Given the description of an element on the screen output the (x, y) to click on. 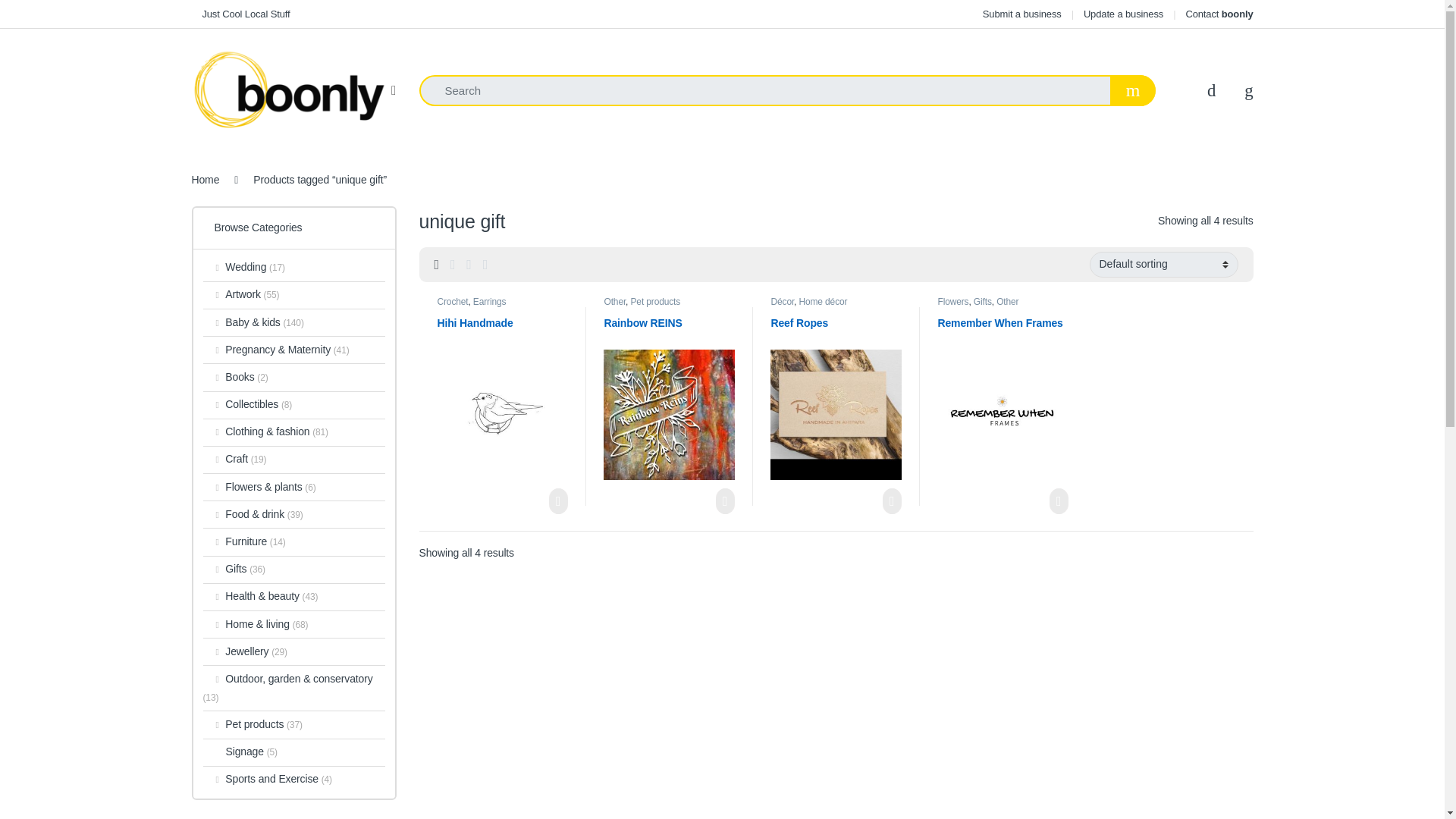
Submit a business (1021, 13)
Update a business (1123, 13)
Update a business (1123, 13)
    Just Cool Local Stuff (239, 13)
Contact boonly (1218, 13)
Submit a business (1021, 13)
